Given the description of an element on the screen output the (x, y) to click on. 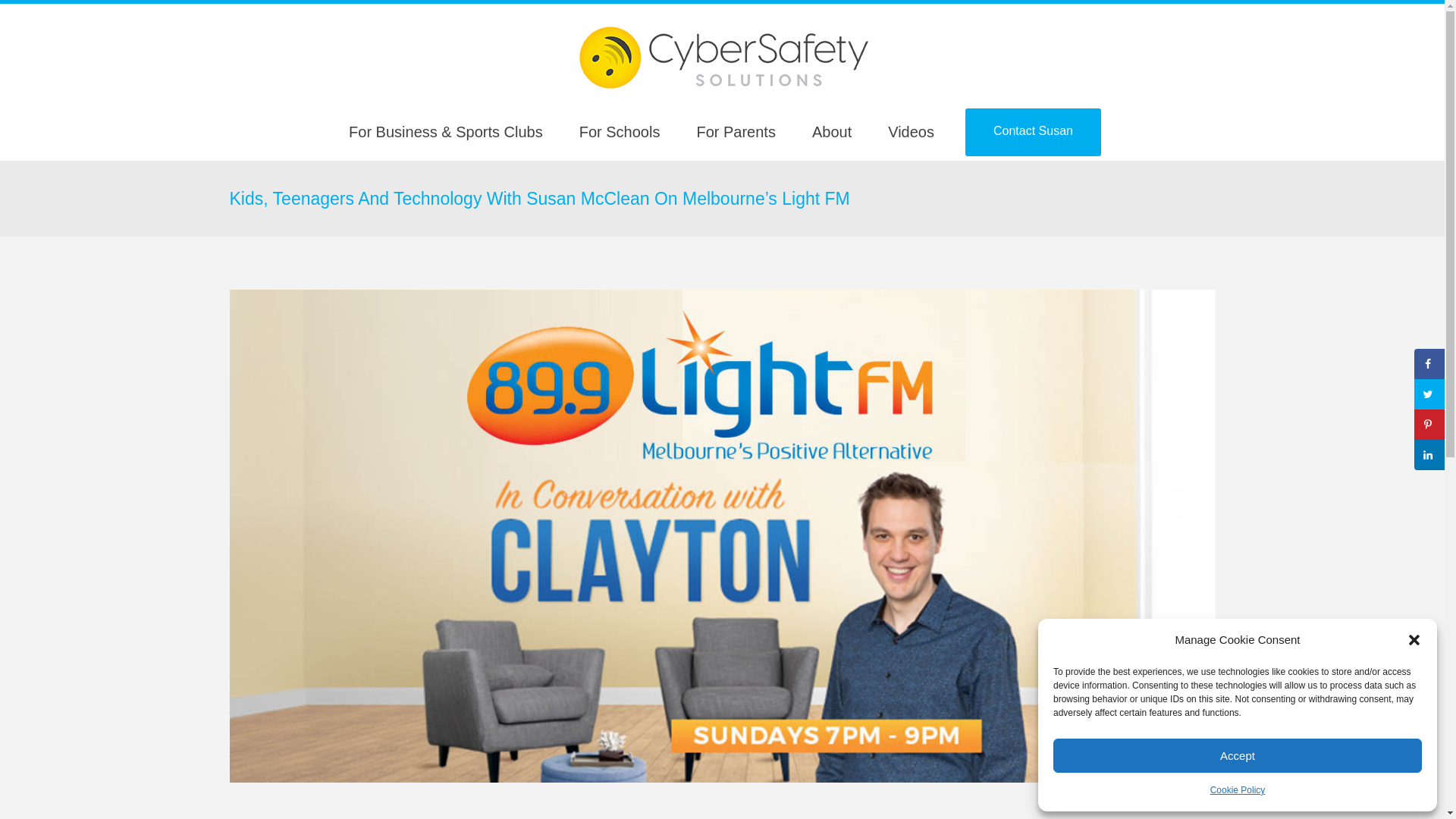
Share on Facebook Element type: hover (1429, 363)
For Parents Element type: text (735, 131)
Videos Element type: text (910, 131)
Share on LinkedIn Element type: hover (1429, 454)
Cookie Policy Element type: text (1237, 790)
Accept Element type: text (1237, 755)
For Business & Sports Clubs Element type: text (445, 131)
For Schools Element type: text (619, 131)
Contact Susan Element type: text (1033, 132)
About Element type: text (831, 131)
Save to Pinterest Element type: hover (1429, 424)
Share on Twitter Element type: hover (1429, 394)
